Given the description of an element on the screen output the (x, y) to click on. 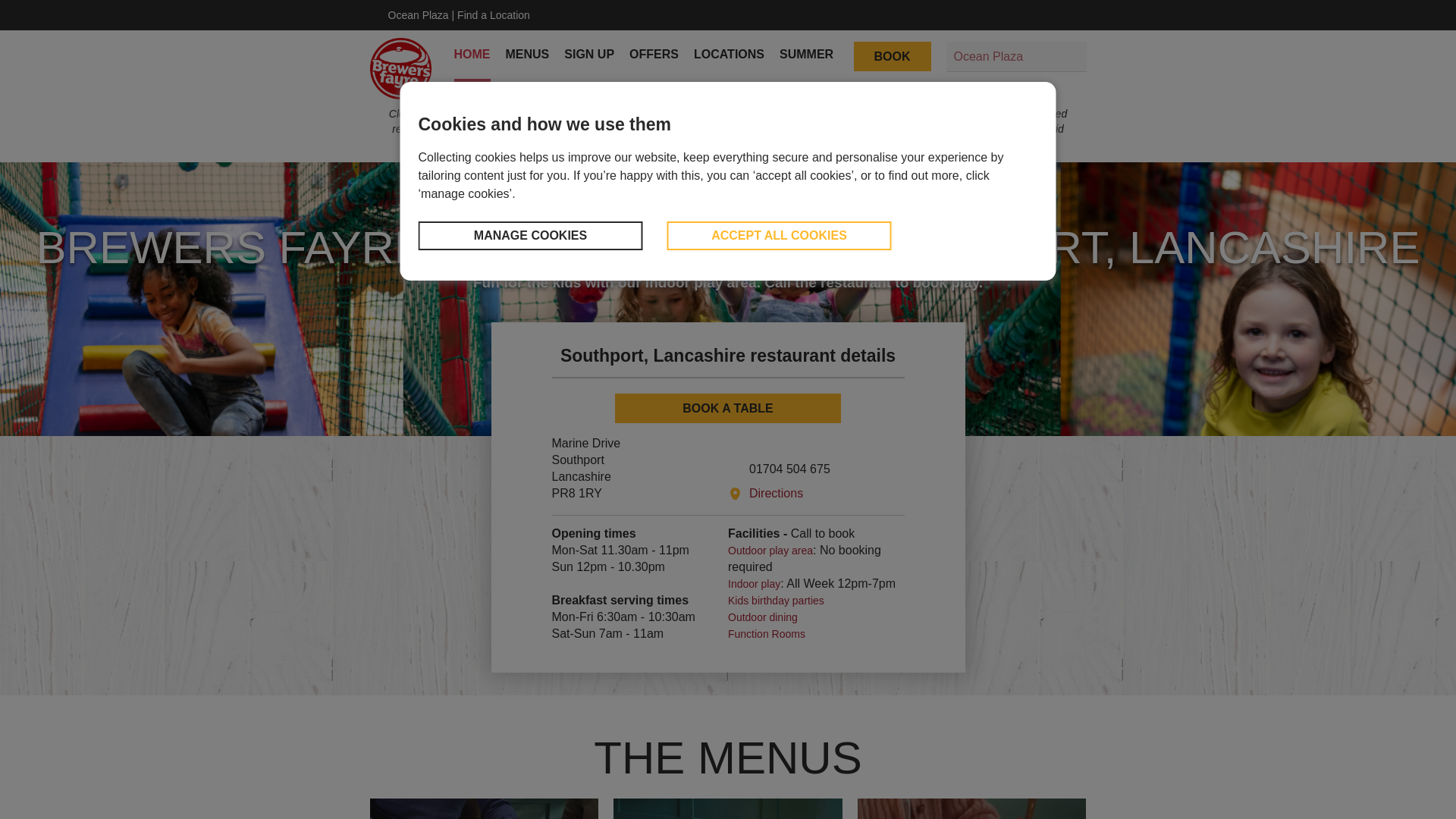
LOCATIONS (729, 54)
MENUS (526, 54)
SUMMER (805, 54)
Outdoor play area (770, 550)
Outdoor dining (762, 616)
Brewers Fayre Logo (399, 68)
Kids birthday parties (776, 600)
BOOK A TABLE (727, 408)
OFFERS (653, 54)
SIGN UP (589, 54)
